Given the description of an element on the screen output the (x, y) to click on. 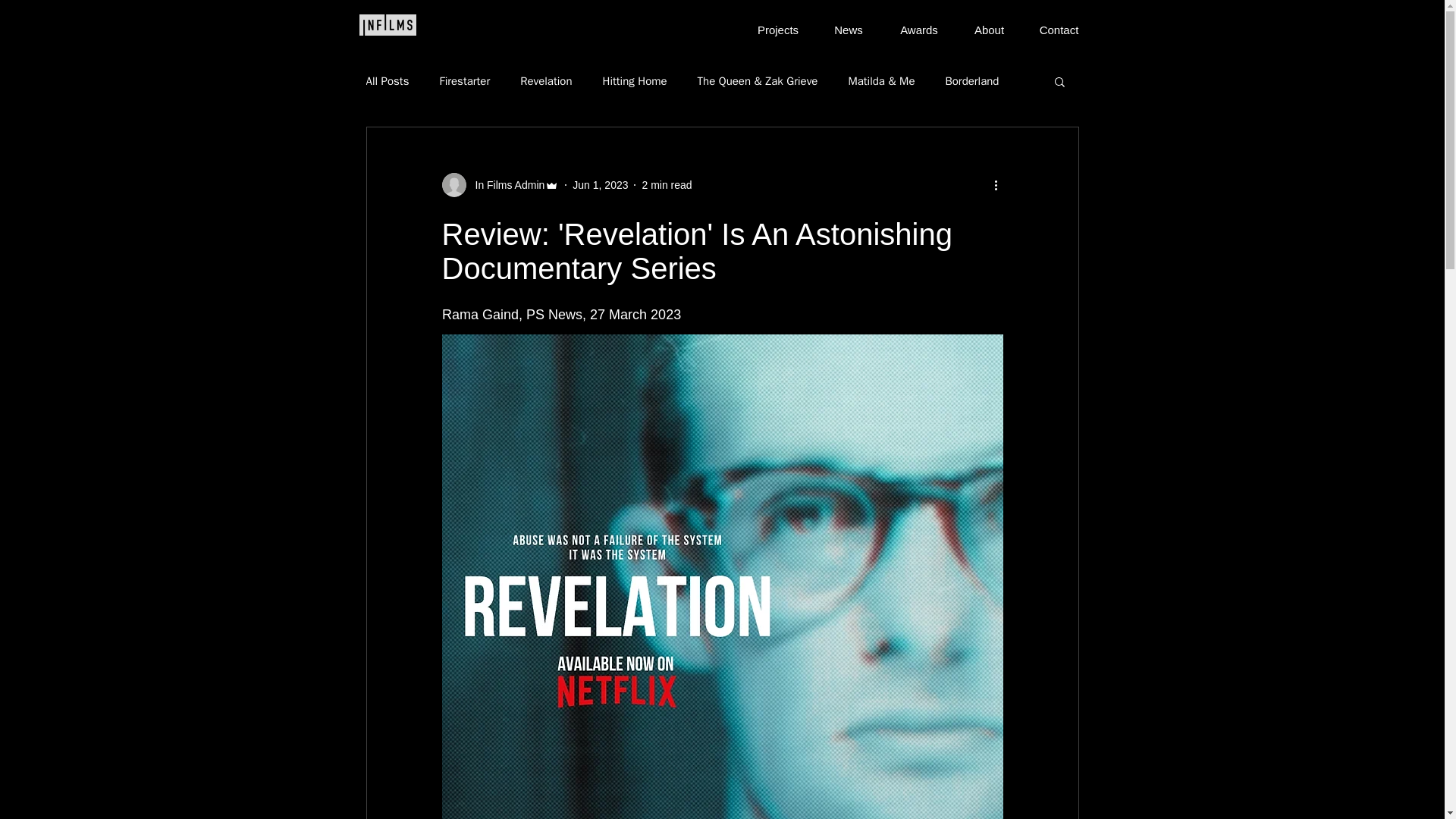
Revelation (545, 81)
All Posts (387, 81)
News (847, 23)
Awards (919, 23)
Contact (1058, 23)
Projects (777, 23)
Hitting Home (634, 81)
About (988, 23)
Jun 1, 2023 (599, 184)
2 min read (666, 184)
Firestarter (464, 81)
Borderland (971, 81)
In Films Admin (504, 185)
In Films Admin (500, 184)
